Given the description of an element on the screen output the (x, y) to click on. 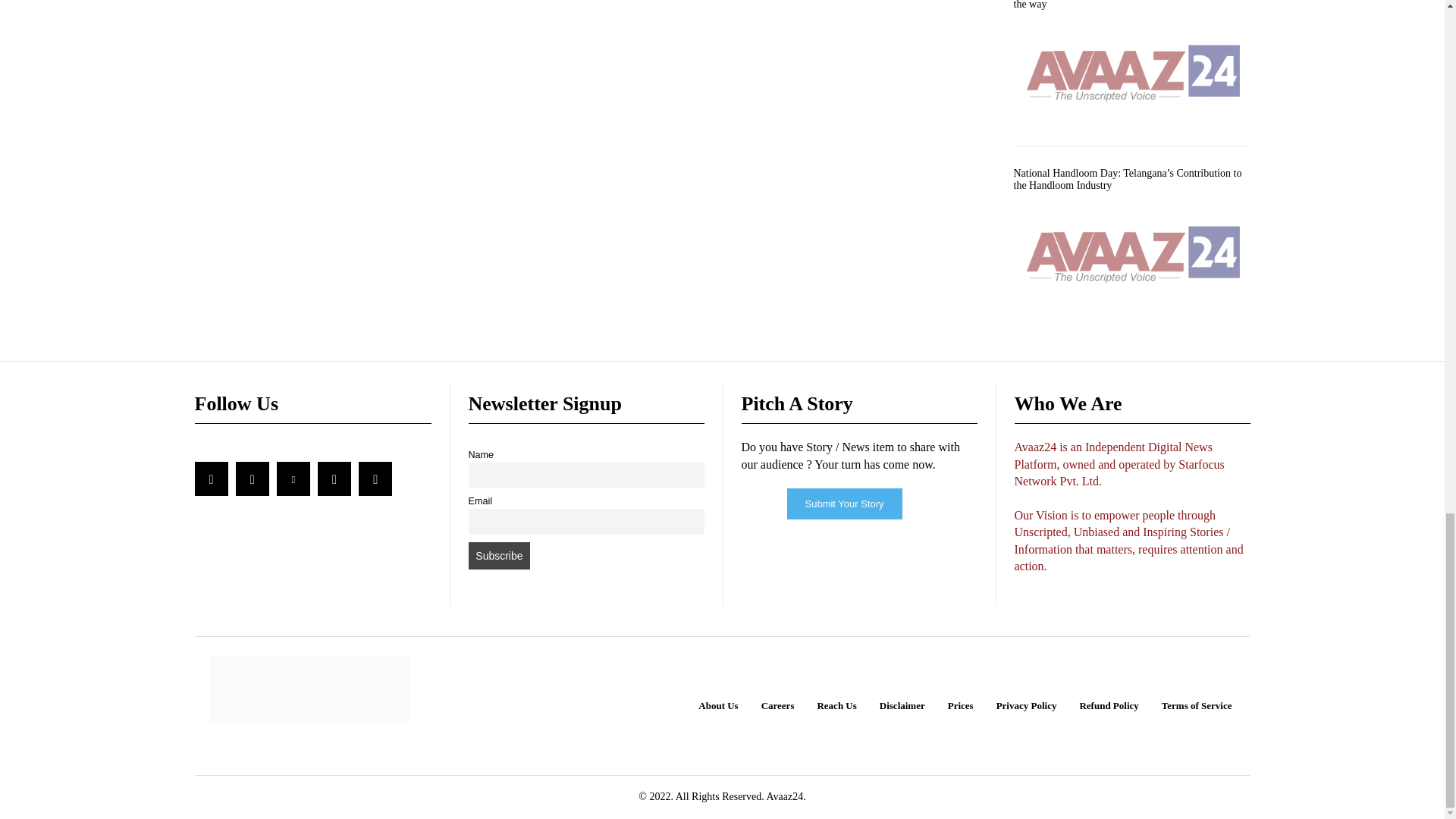
Subscribe (499, 555)
